Given the description of an element on the screen output the (x, y) to click on. 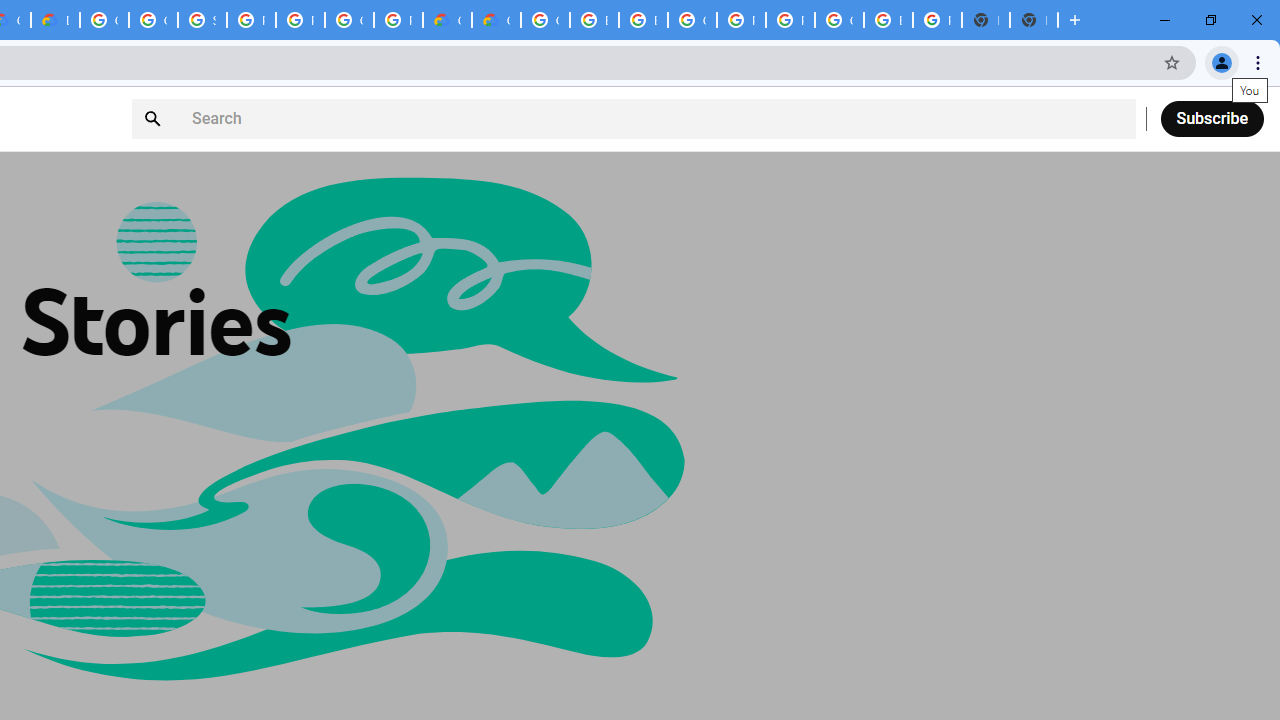
AutomationID: search_bar_input_header (633, 118)
Google Cloud Platform (692, 20)
Browse Chrome as a guest - Computer - Google Chrome Help (594, 20)
Submit Search (155, 119)
Subscribe (1211, 118)
Close Search (1111, 119)
